Given the description of an element on the screen output the (x, y) to click on. 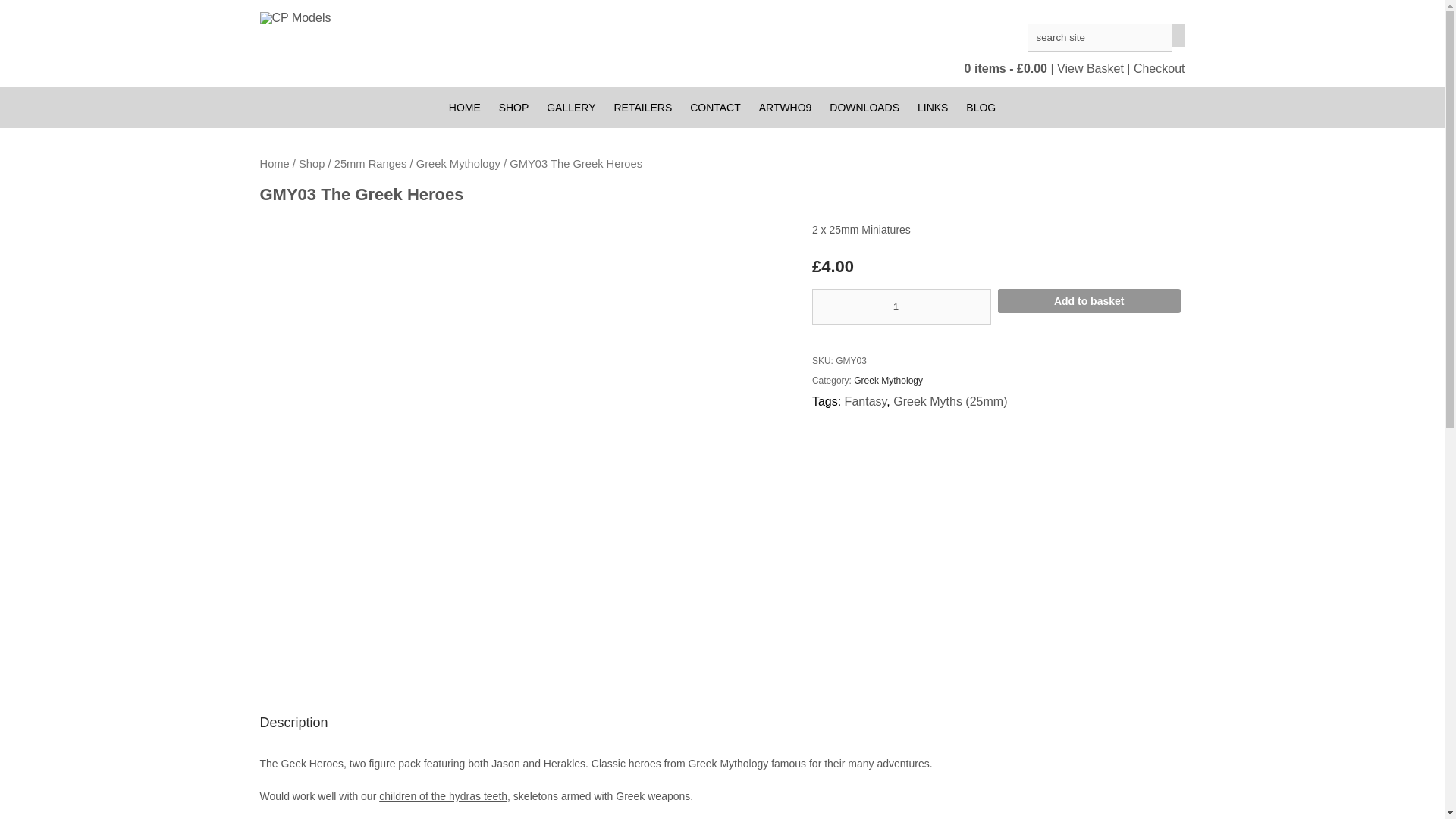
Shop (311, 163)
25mm Ranges (370, 163)
Go to checkout (1159, 68)
Fantasy (865, 400)
ARTWHO9 (785, 106)
View basket (1090, 68)
CONTACT (715, 106)
Checkout (1159, 68)
BLOG (980, 106)
DOWNLOADS (864, 106)
Cart View (1007, 68)
LINKS (932, 106)
1 (901, 306)
Description (304, 722)
HOME (464, 106)
